Given the description of an element on the screen output the (x, y) to click on. 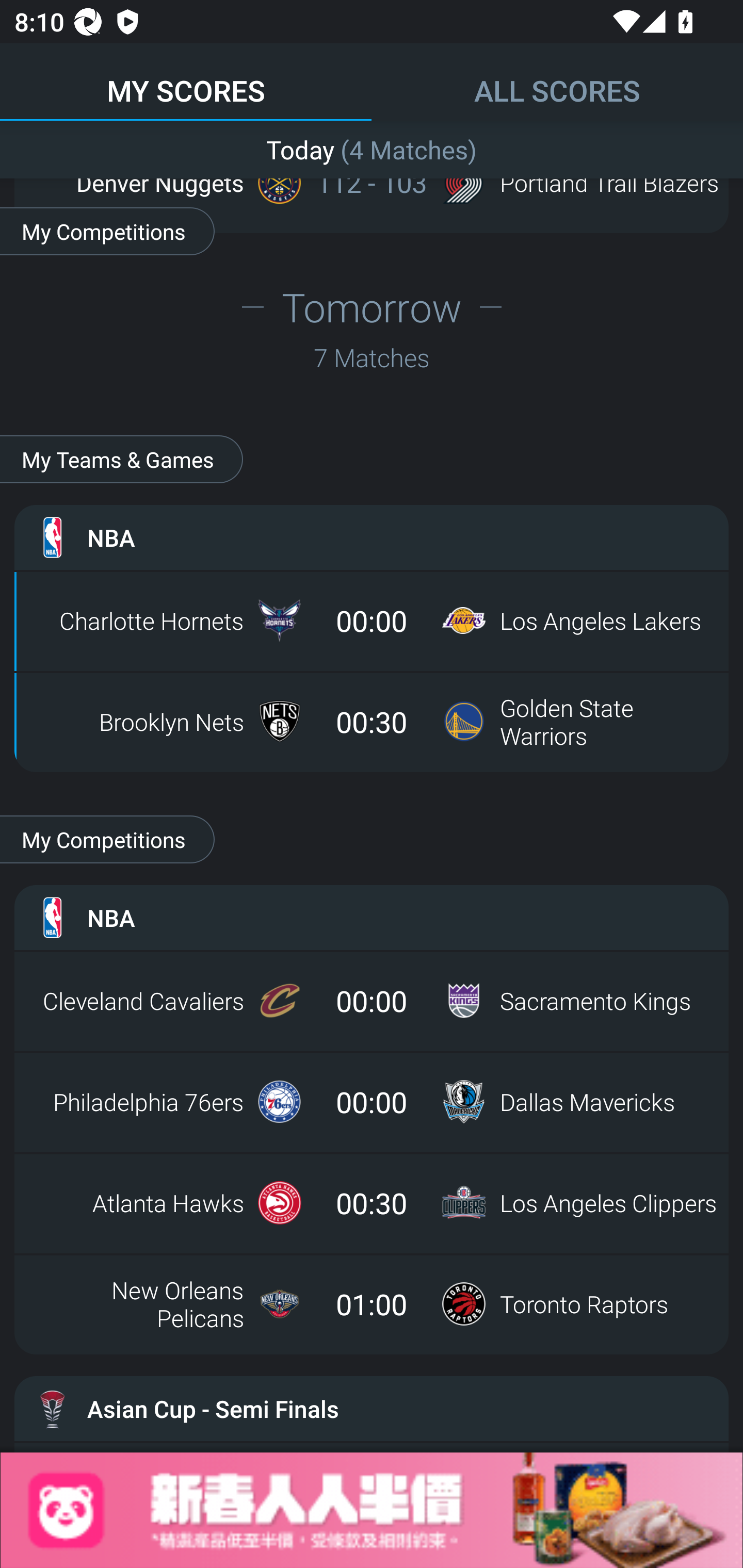
MY SCORES (185, 81)
ALL SCORES (557, 81)
NBA (371, 536)
Charlotte Hornets 00:00 Los Angeles Lakers (371, 620)
Brooklyn Nets 00:30 Golden State Warriors (371, 721)
NBA (371, 917)
Cleveland Cavaliers 00:00 Sacramento Kings (371, 1000)
Philadelphia 76ers 00:00 Dallas Mavericks (371, 1101)
Atlanta Hawks 00:30 Los Angeles Clippers (371, 1202)
New Orleans Pelicans 01:00 Toronto Raptors (371, 1303)
Asian Cup - Semi Finals (371, 1408)
Advertisement (371, 1509)
